Given the description of an element on the screen output the (x, y) to click on. 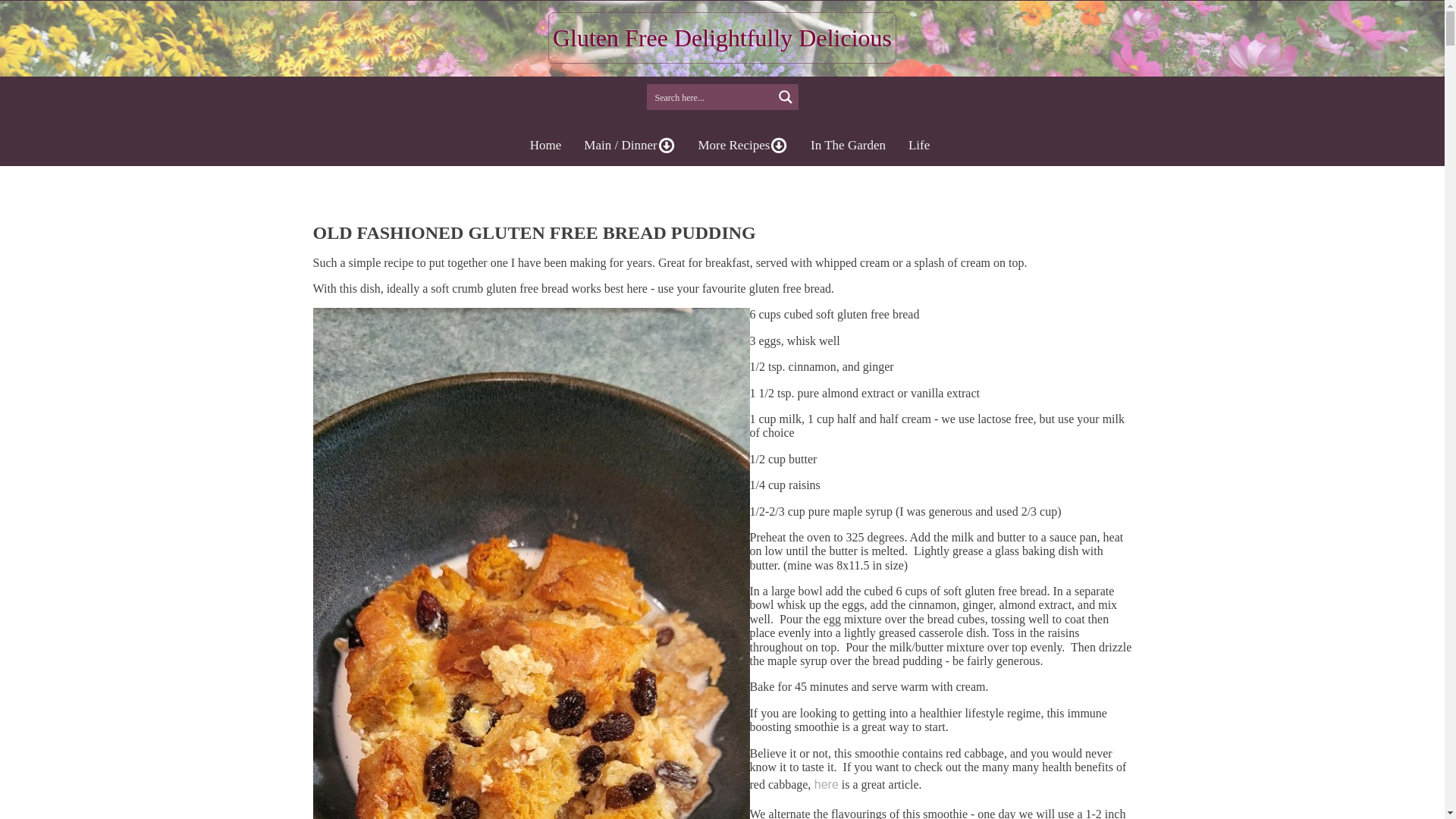
Gluten Free Delightfully Delicious (722, 31)
More Recipes (742, 145)
In The Garden (847, 145)
here (824, 784)
Life (918, 145)
Home (545, 145)
